Given the description of an element on the screen output the (x, y) to click on. 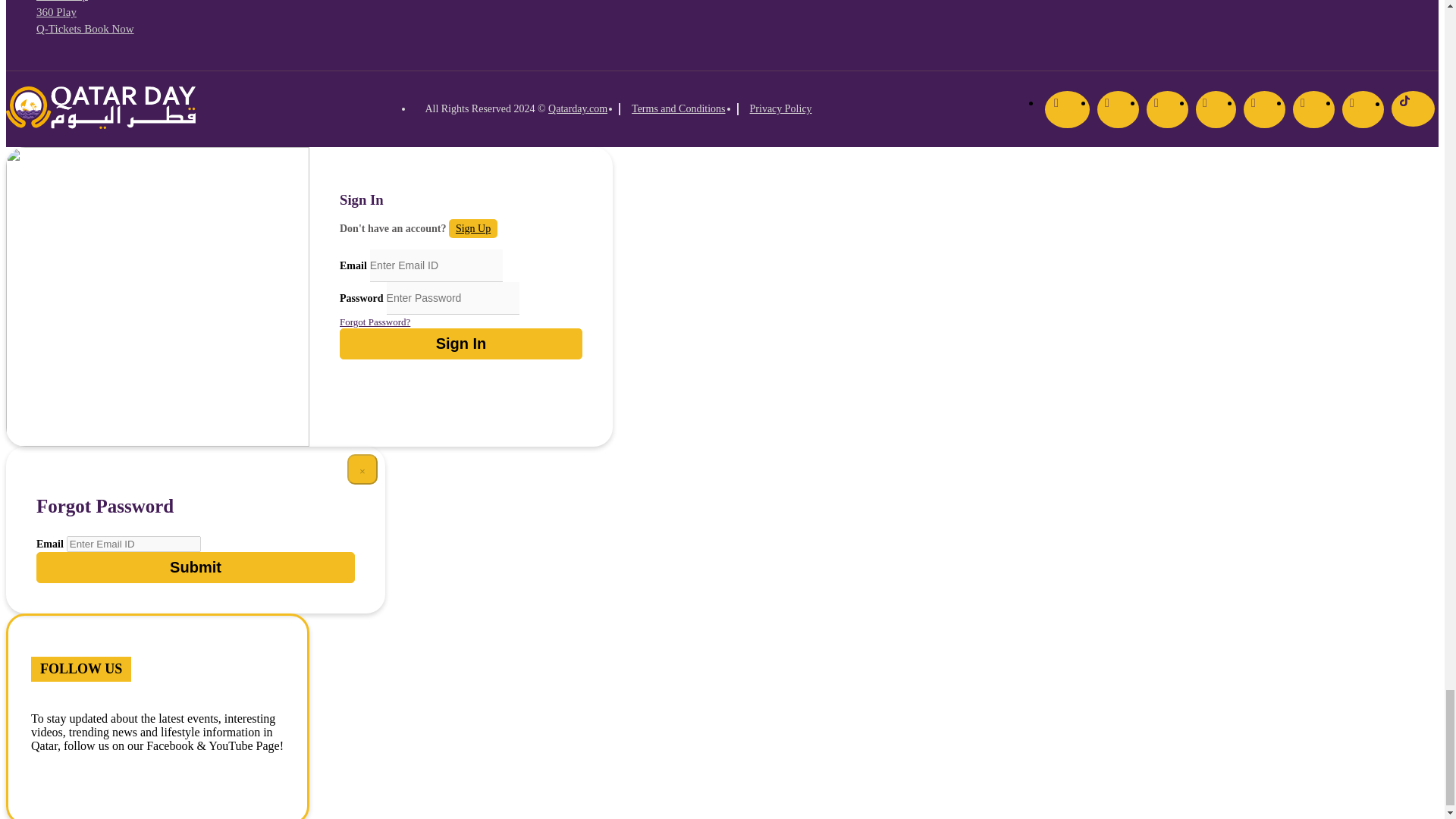
Submit (195, 567)
Sign In (460, 343)
